Given the description of an element on the screen output the (x, y) to click on. 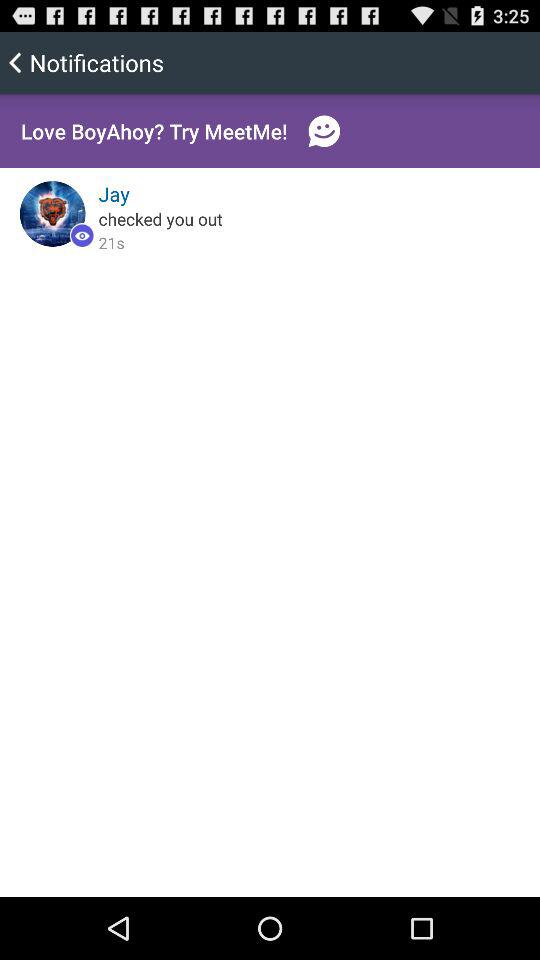
turn on the 21s app (111, 242)
